Given the description of an element on the screen output the (x, y) to click on. 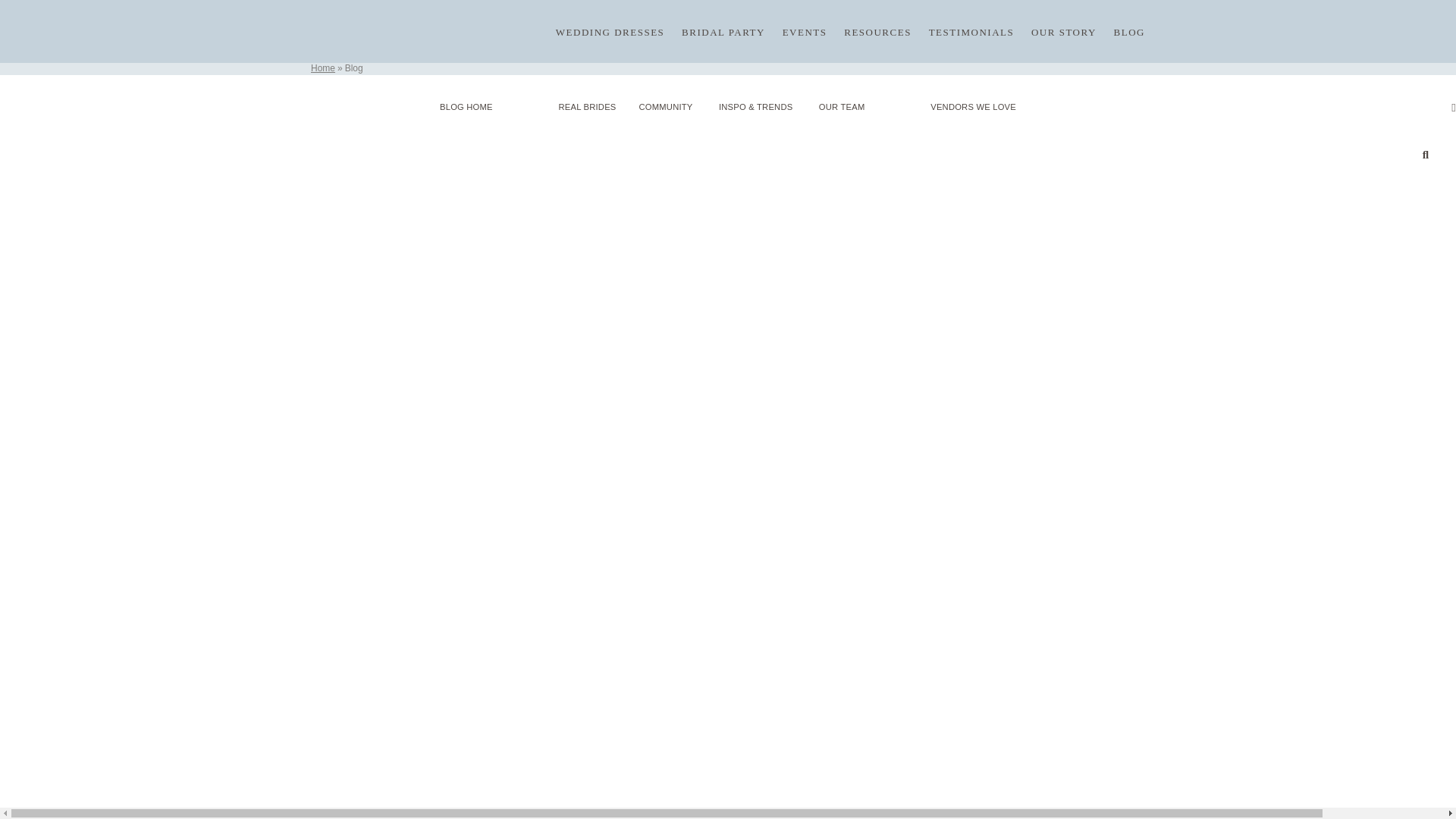
BLOG (1128, 32)
REQUEST MY APPOINTMENT (727, 13)
WEDDING DRESSES (609, 32)
VENDORS WE LOVE (961, 106)
RESOURCES (877, 32)
COMMUNITY (665, 106)
OUR STORY (1063, 32)
REAL BRIDES (587, 106)
BRIDAL PARTY (723, 32)
TESTIMONIALS (971, 32)
OUR TEAM (842, 106)
EVENTS (805, 32)
BLOG HOME (477, 106)
Home (328, 68)
